Given the description of an element on the screen output the (x, y) to click on. 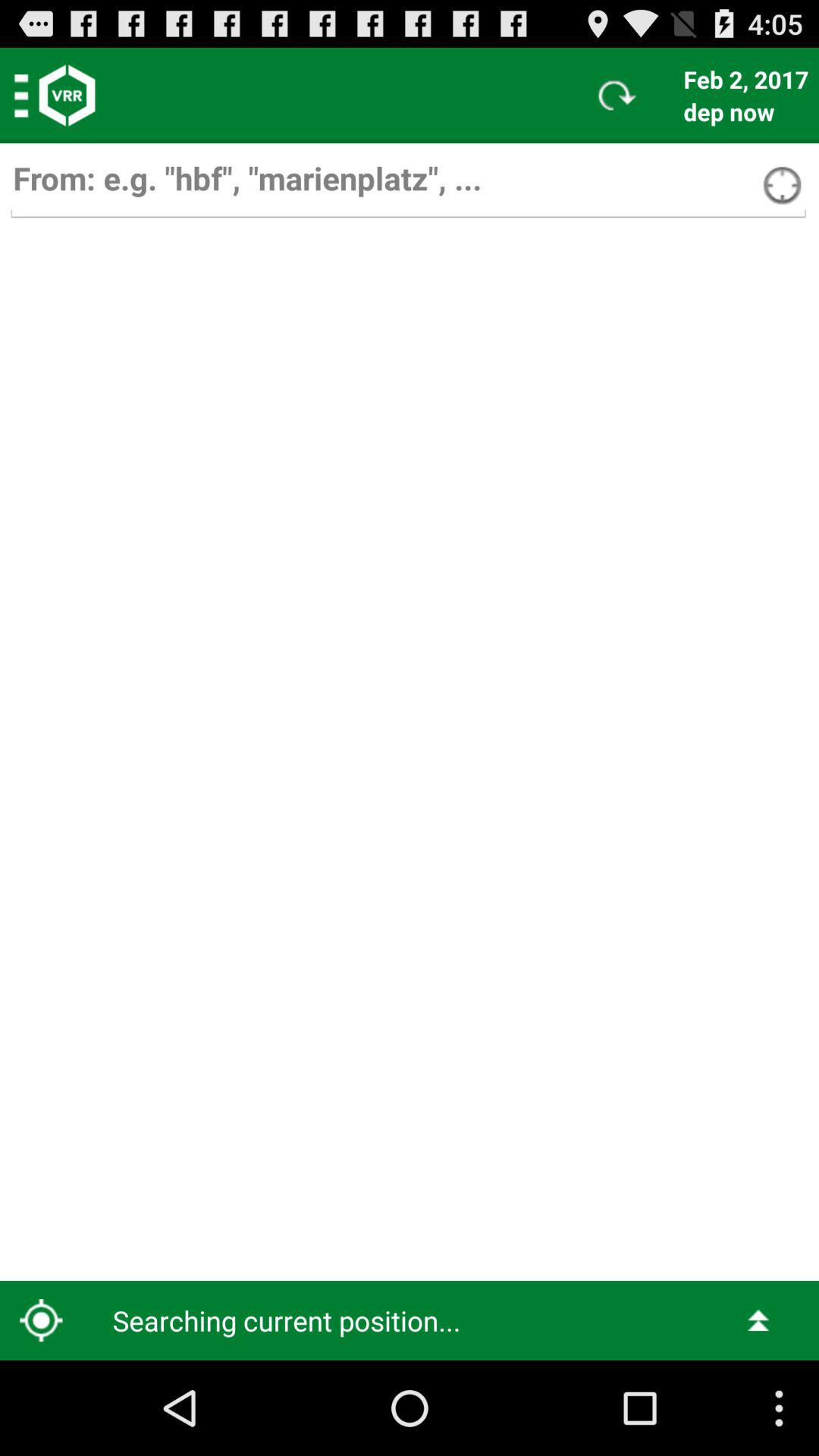
open item below dep now icon (814, 147)
